Given the description of an element on the screen output the (x, y) to click on. 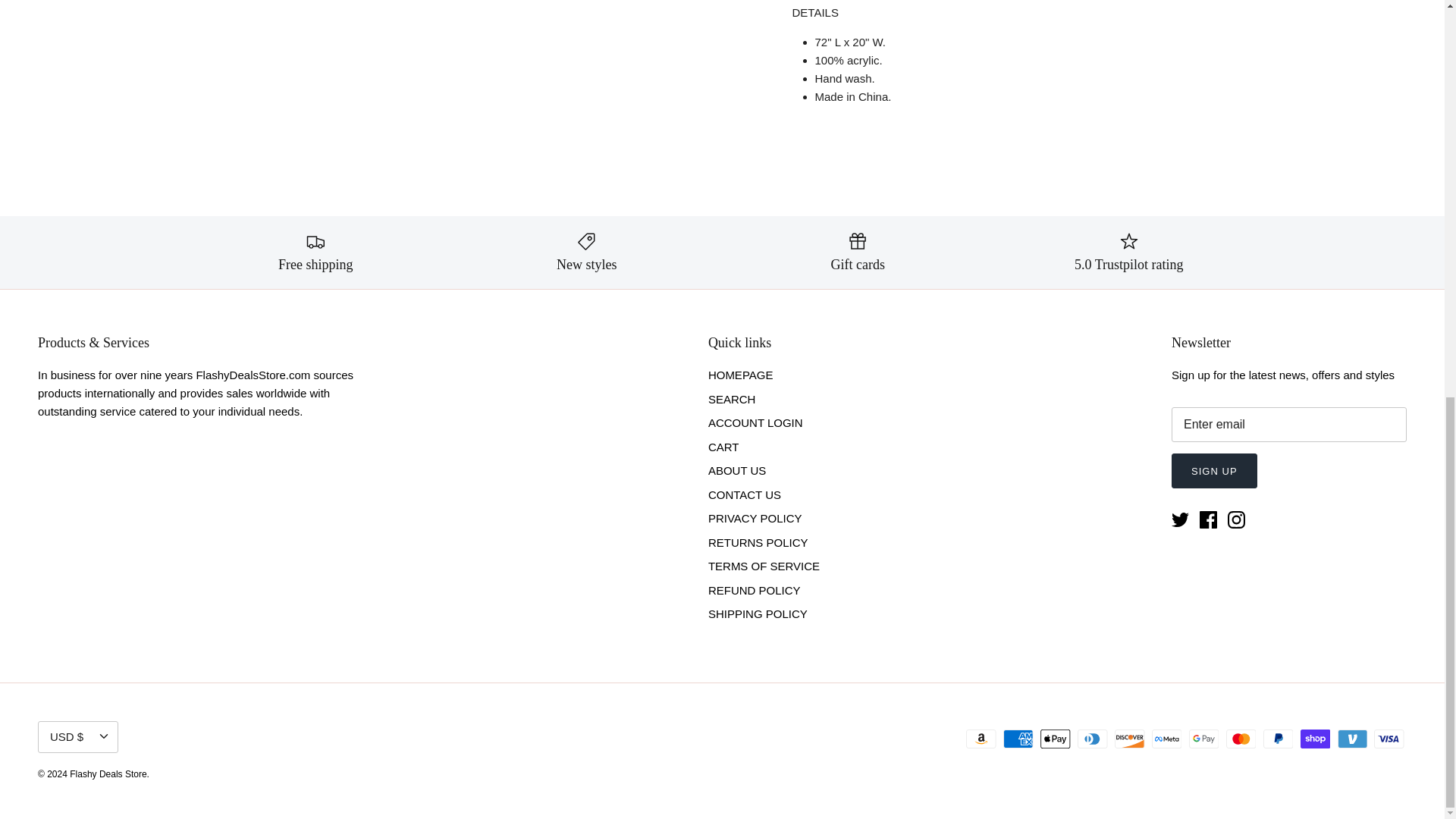
Meta Pay (1166, 738)
American Express (1018, 738)
Discover (1129, 738)
Instagram (1235, 519)
Twitter (1180, 519)
Facebook (1208, 519)
Diners Club (1092, 738)
Apple Pay (1055, 738)
Amazon (980, 738)
